Given the description of an element on the screen output the (x, y) to click on. 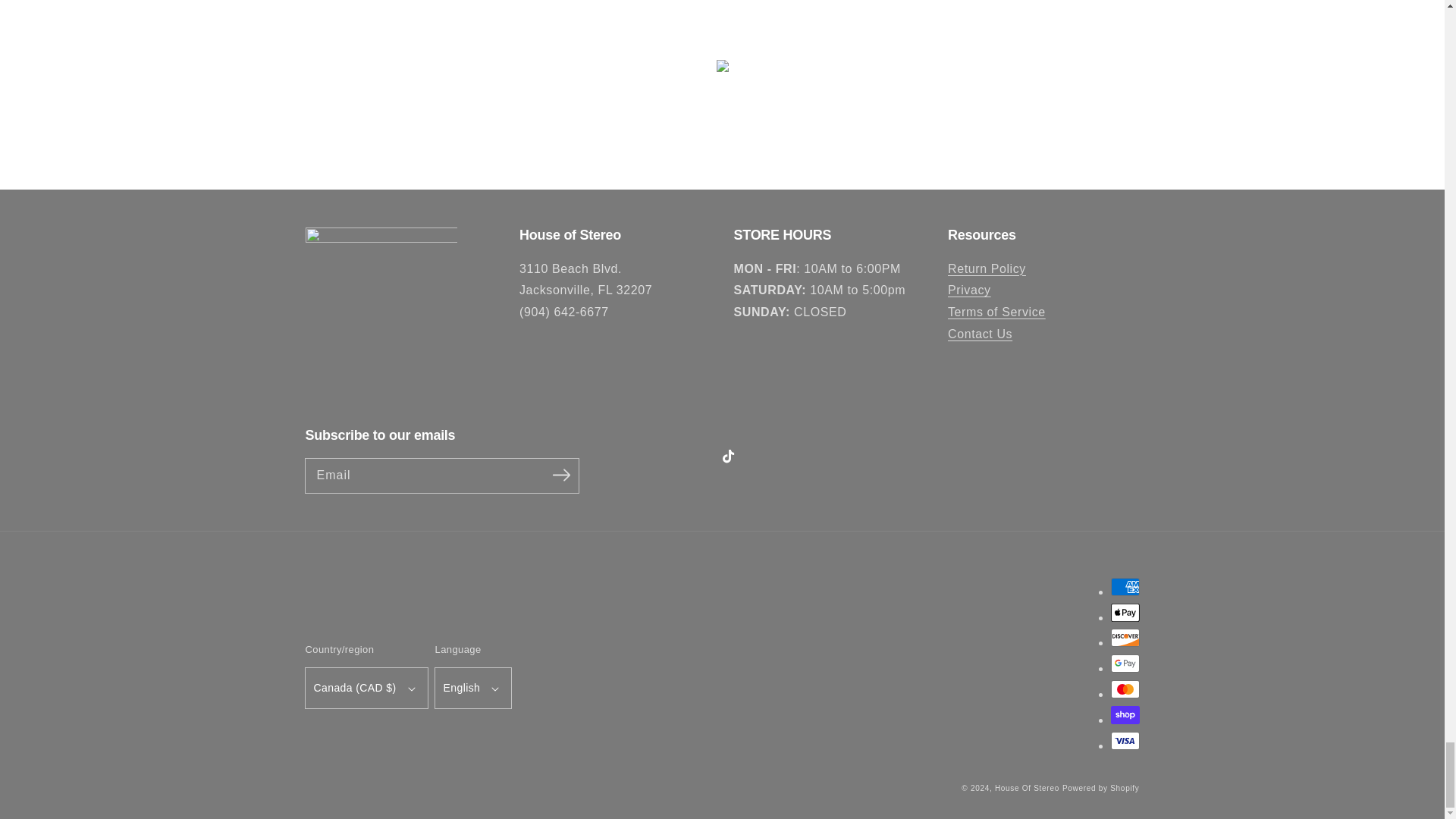
Visa (1123, 741)
Contact Us (979, 333)
Google Pay (1123, 663)
Refund Policy (986, 268)
Apple Pay (1123, 612)
Discover (1123, 637)
American Express (1123, 587)
Privacy Policy (969, 289)
Mastercard (1123, 689)
Shop Pay (1123, 714)
